Given the description of an element on the screen output the (x, y) to click on. 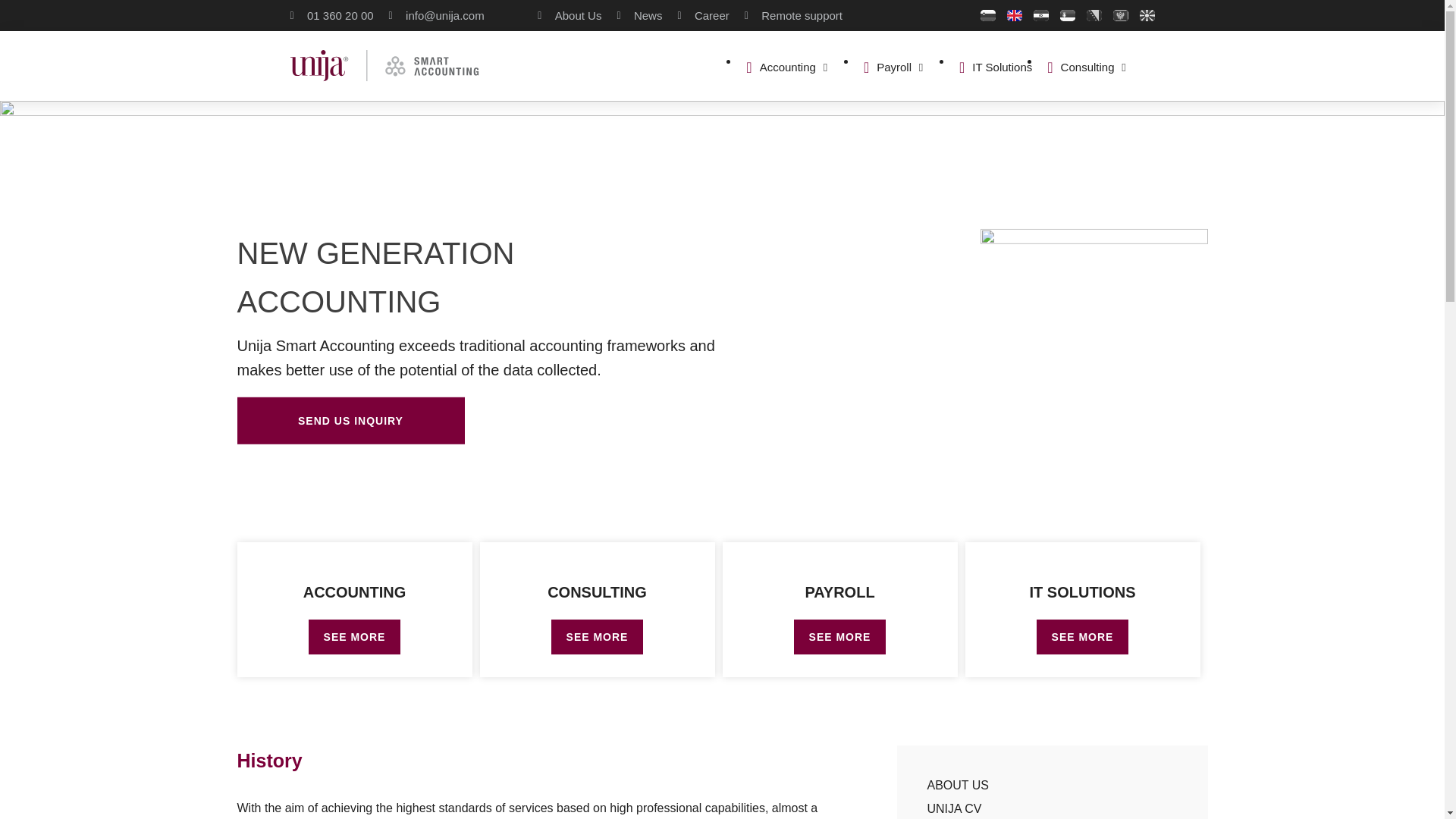
IT SOLUTIONS (1082, 592)
ACCOUNTING (354, 592)
About Us (569, 15)
SEE MORE (597, 636)
SEND US INQUIRY (349, 420)
CONSULTING (596, 592)
News (638, 15)
PAYROLL (839, 592)
Consulting (1079, 67)
IT Solutions (995, 67)
SEE MORE (839, 636)
Payroll (887, 67)
01 360 20 00 (330, 15)
Career (703, 15)
Accounting (780, 67)
